Given the description of an element on the screen output the (x, y) to click on. 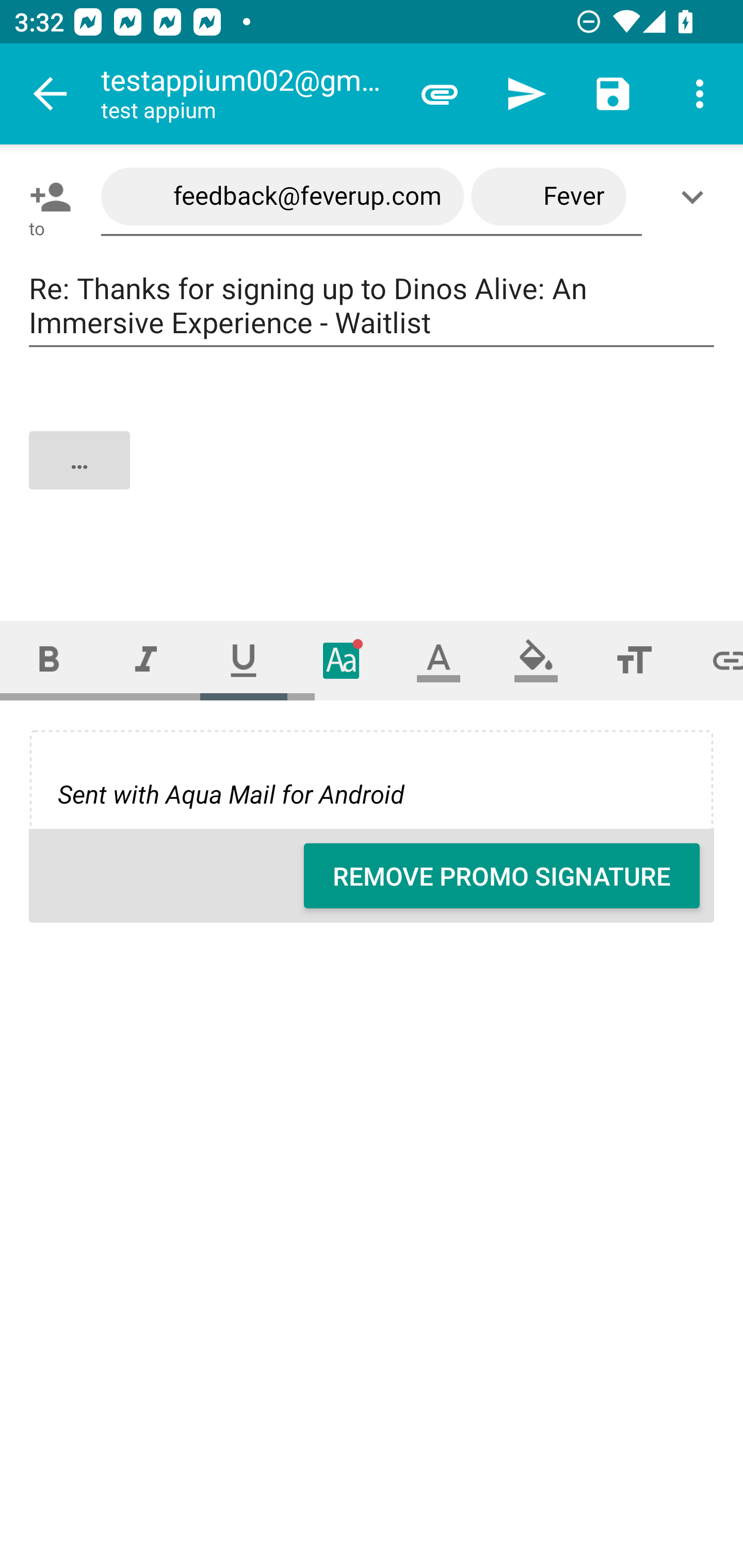
Navigate up (50, 93)
testappium002@gmail.com test appium (248, 93)
Attach (439, 93)
Send (525, 93)
Save (612, 93)
More options (699, 93)
feedback@feverup.com, Fever <hello@feverup.com>,  (371, 197)
Pick contact: To (46, 196)
Show/Add CC/BCC (696, 196)

…
 (372, 477)
Bold (48, 660)
Italic (145, 660)
Underline (243, 660)
Typeface (font) (341, 660)
Text color (438, 660)
Fill color (536, 660)
Font size (633, 660)
REMOVE PROMO SIGNATURE (501, 875)
